Given the description of an element on the screen output the (x, y) to click on. 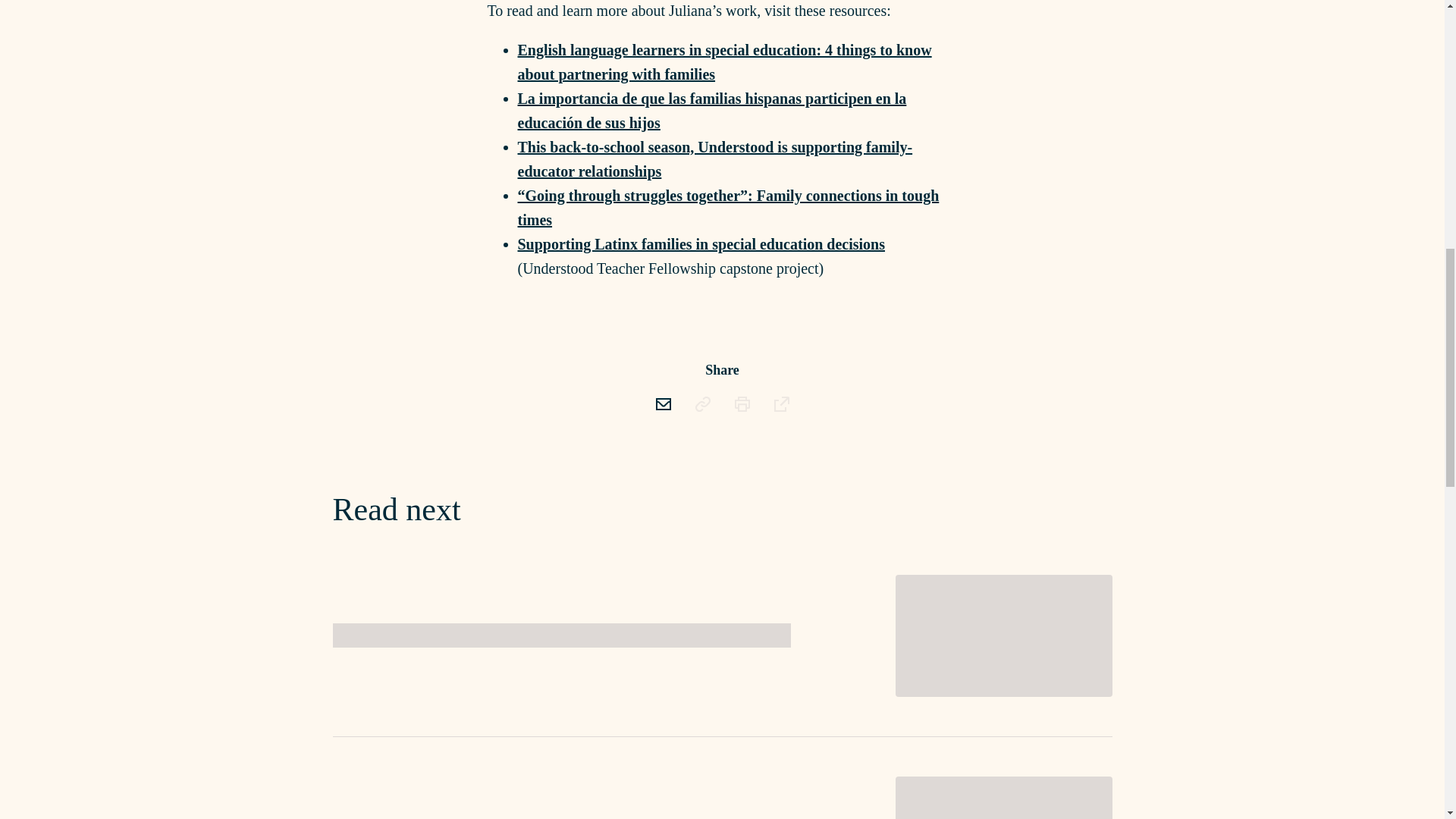
Supporting Latinx families in special education decisions (700, 243)
